Given the description of an element on the screen output the (x, y) to click on. 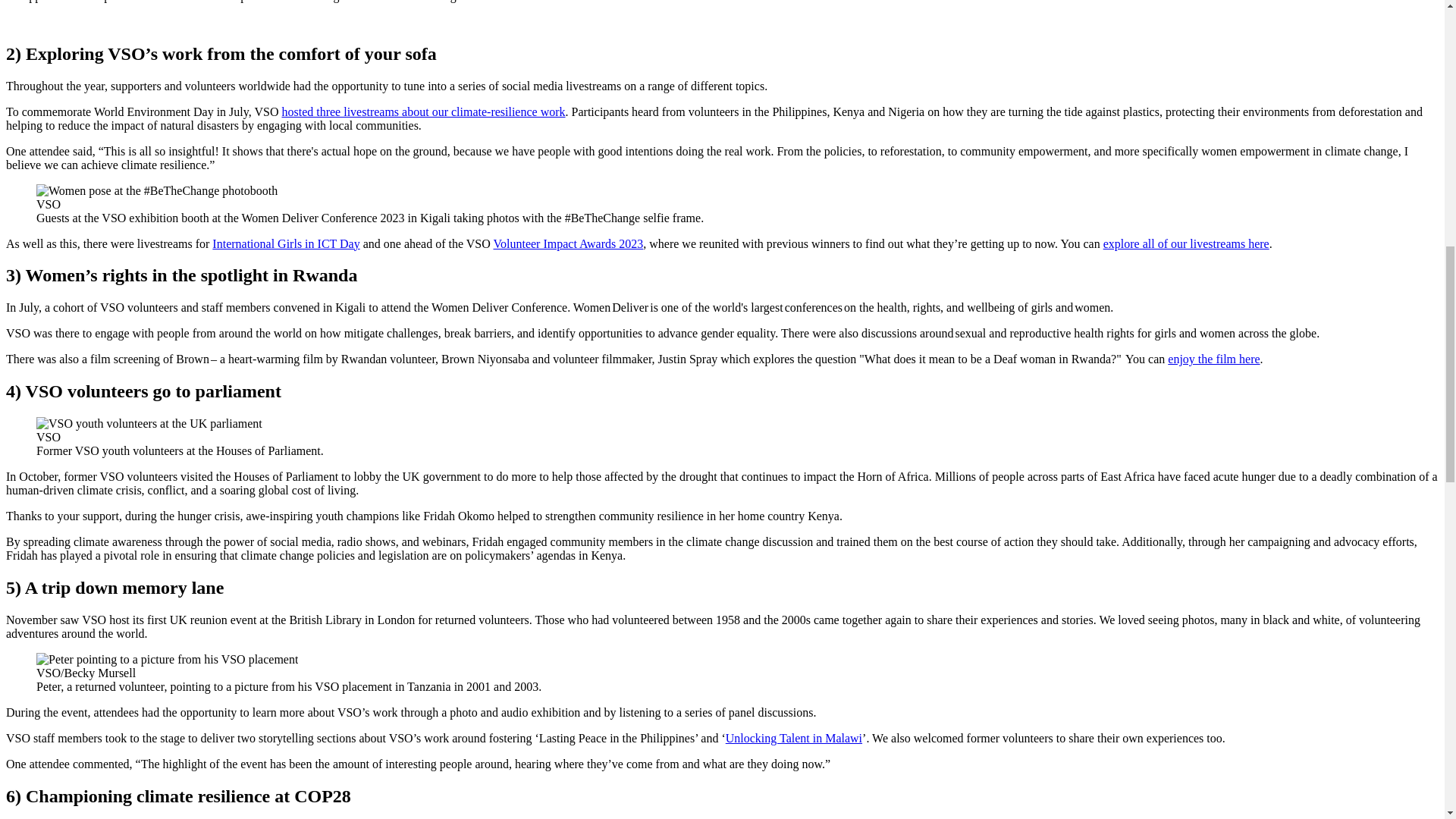
enjoy the film here (1213, 358)
explore all of our livestreams here (1186, 242)
hosted three livestreams about our climate-resilience work (422, 110)
Volunteer Impact Awards 2023 (568, 242)
International Girls in ICT Day (285, 242)
Unlocking Talent in Malawi (793, 738)
